Given the description of an element on the screen output the (x, y) to click on. 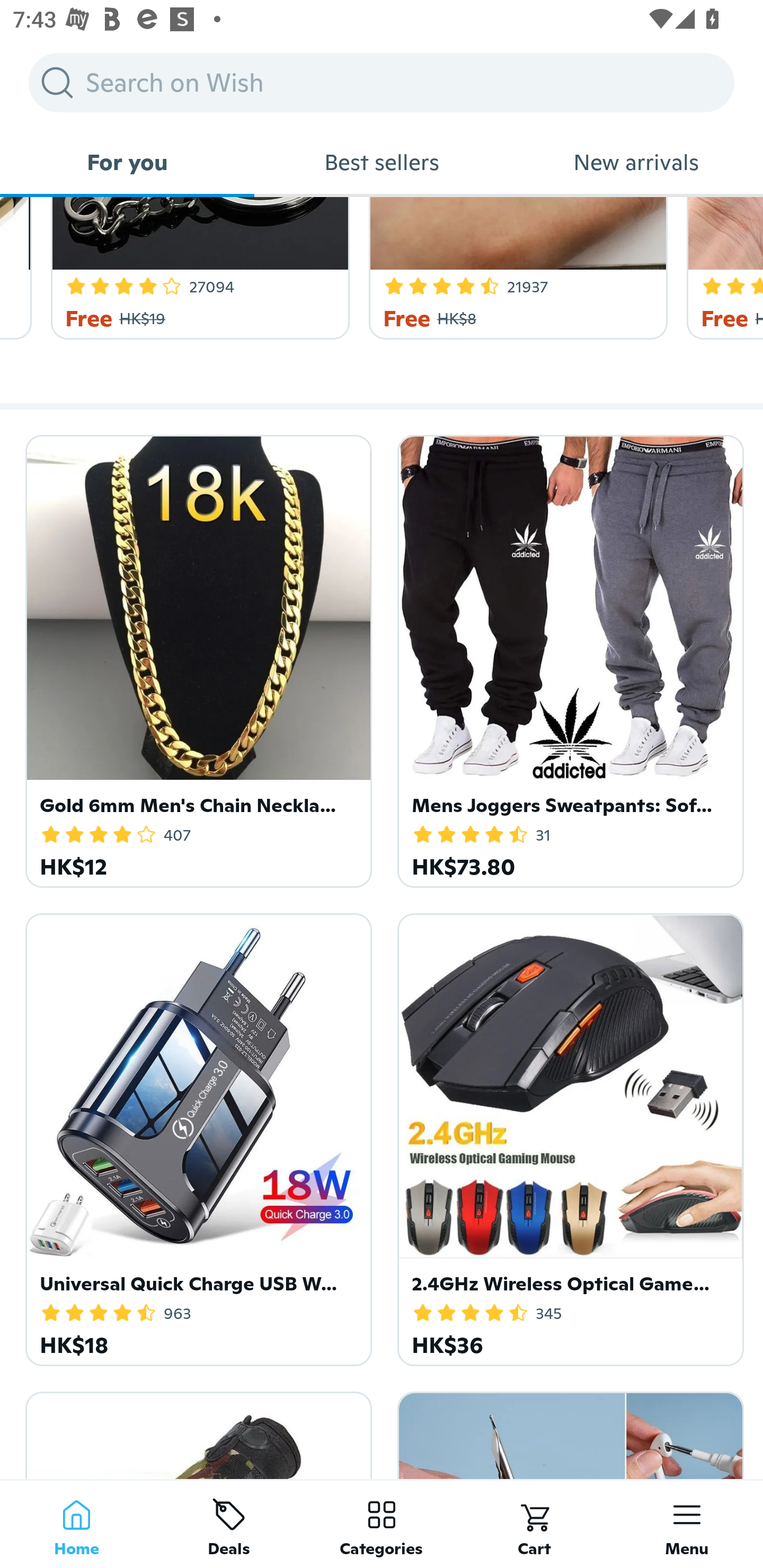
Search on Wish (381, 82)
For you (127, 161)
Best sellers (381, 161)
New arrivals (635, 161)
4 Star Rating 27094 Free HK$19 (196, 268)
4.3 Star Rating 21937 Free HK$8 (514, 268)
Home (76, 1523)
Deals (228, 1523)
Categories (381, 1523)
Cart (533, 1523)
Menu (686, 1523)
